Given the description of an element on the screen output the (x, y) to click on. 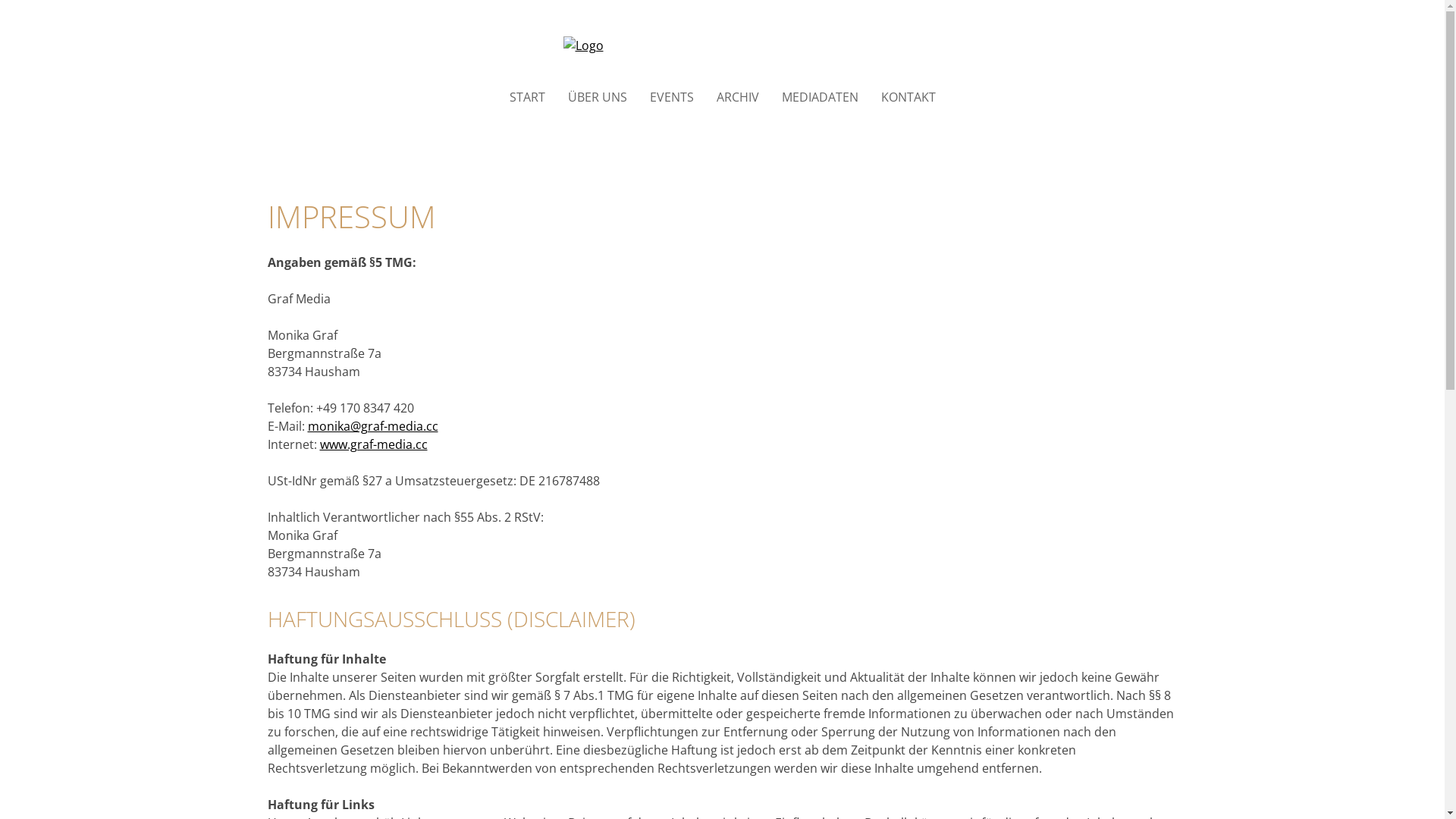
KONTAKT Element type: text (908, 96)
MEDIADATEN Element type: text (818, 96)
EVENTS Element type: text (671, 96)
www.graf-media.cc Element type: text (373, 444)
START Element type: text (527, 96)
ARCHIV Element type: text (736, 96)
monika@graf-media.cc Element type: text (372, 425)
Graf Media Element type: hover (721, 45)
